Given the description of an element on the screen output the (x, y) to click on. 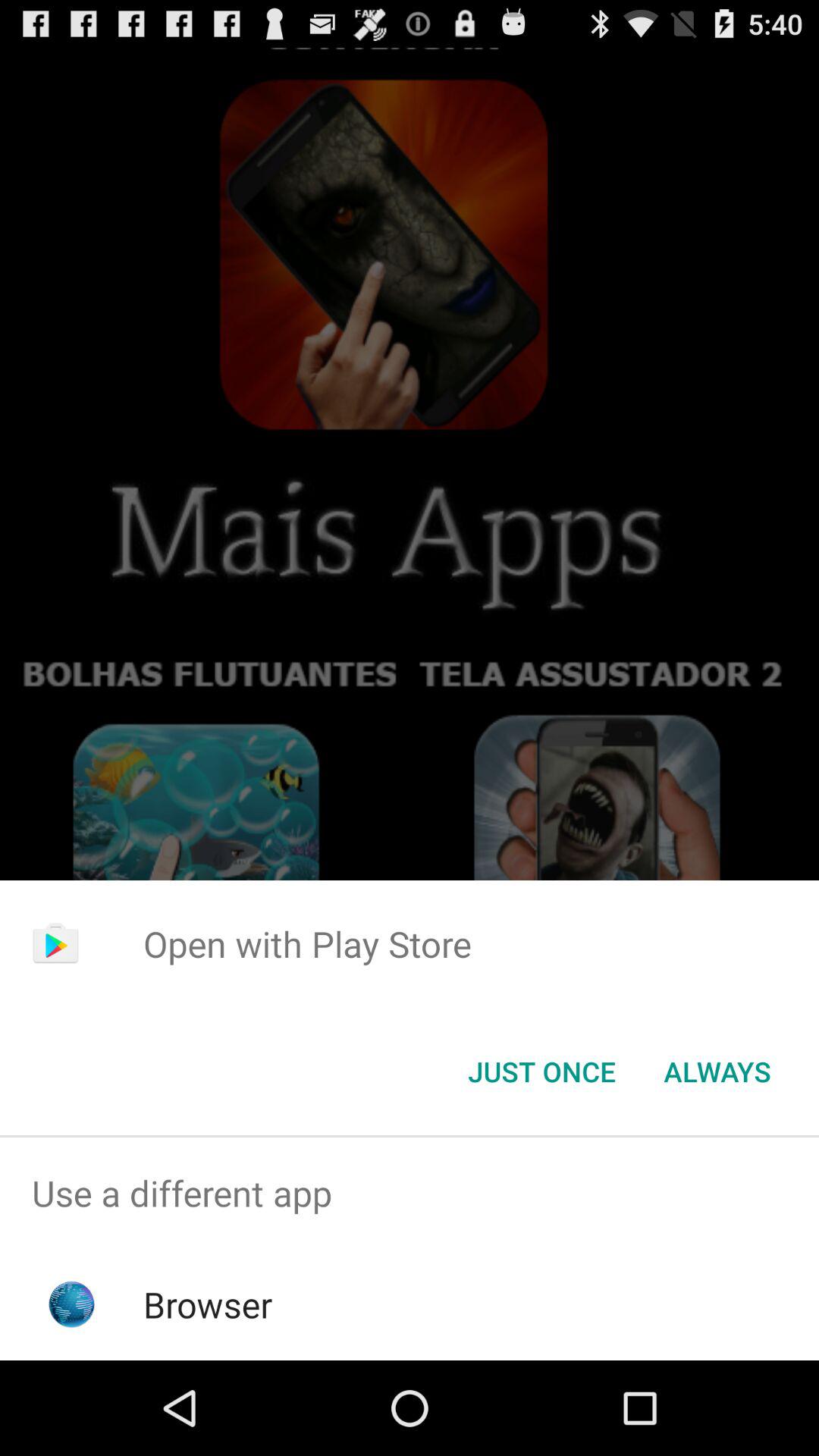
jump until the browser app (207, 1304)
